Given the description of an element on the screen output the (x, y) to click on. 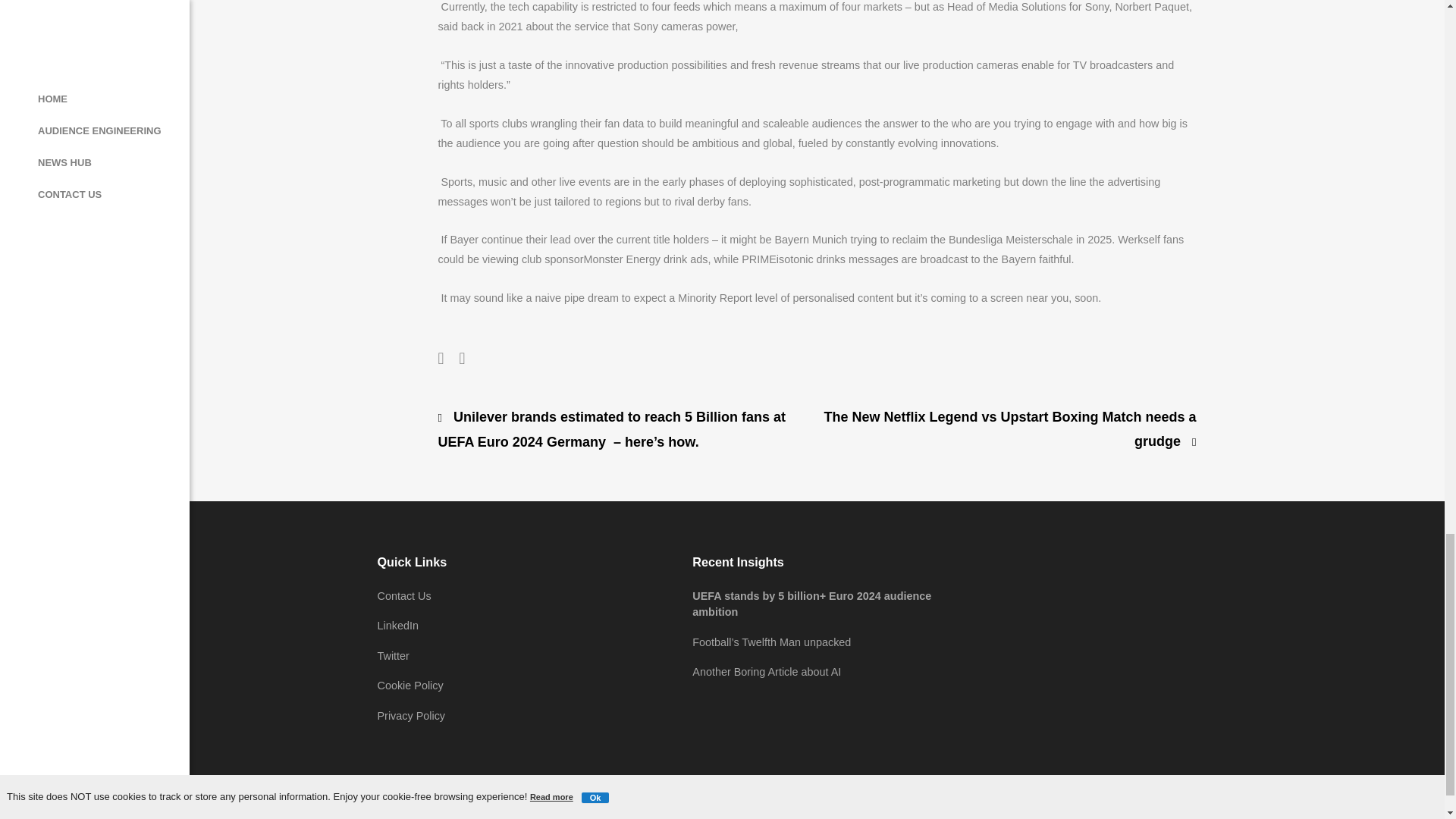
LinkedIn (398, 625)
Another Boring Article about AI (767, 671)
Privacy Policy (411, 715)
Cookie Policy (410, 685)
Twitter (393, 655)
Contact Us (403, 595)
